Given the description of an element on the screen output the (x, y) to click on. 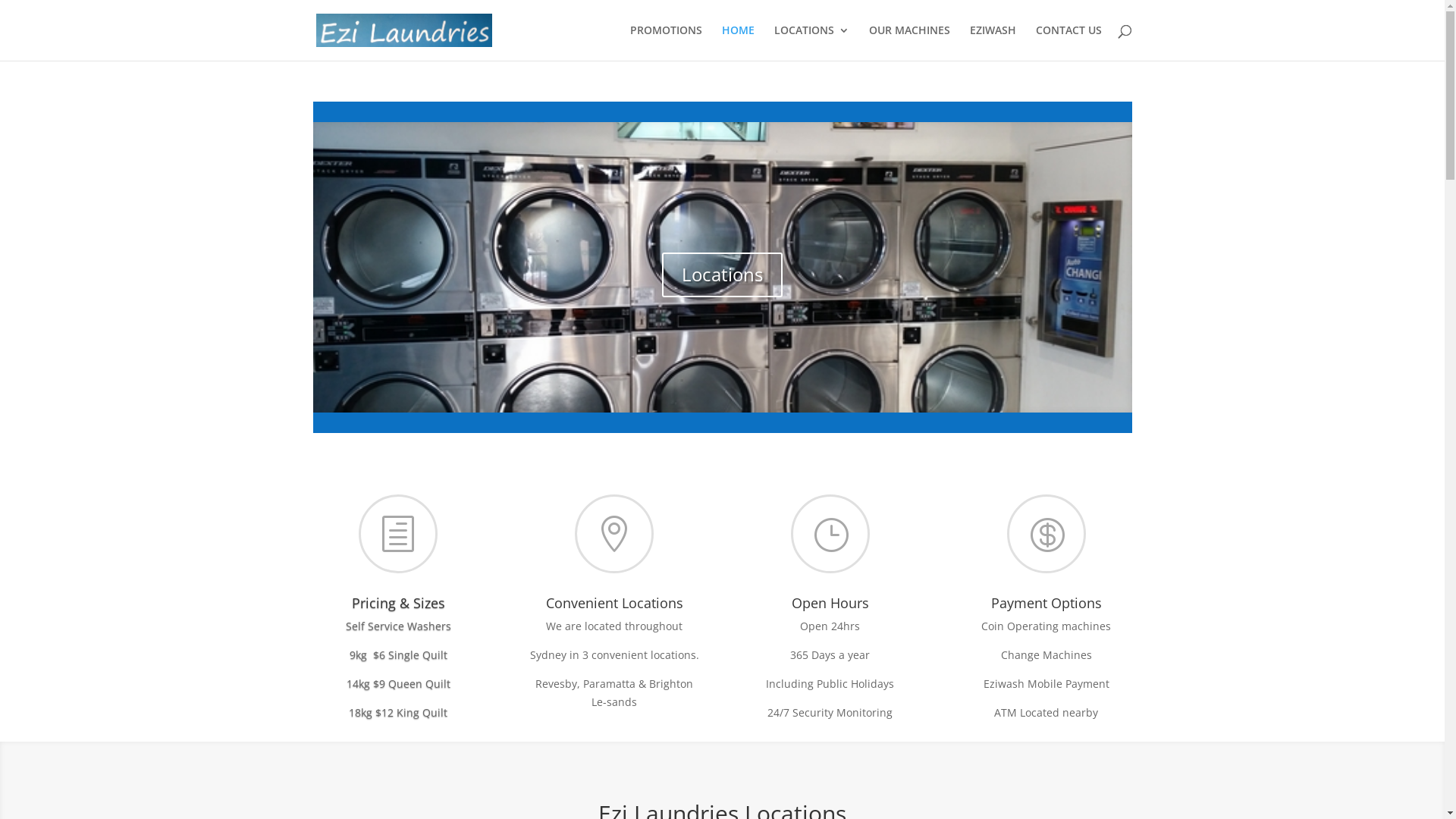
EZIWASH Element type: text (992, 42)
OUR MACHINES Element type: text (909, 42)
HOME Element type: text (737, 42)
CONTACT US Element type: text (1068, 42)
PROMOTIONS Element type: text (665, 42)
Locations Element type: text (722, 274)
LOCATIONS Element type: text (810, 42)
